Given the description of an element on the screen output the (x, y) to click on. 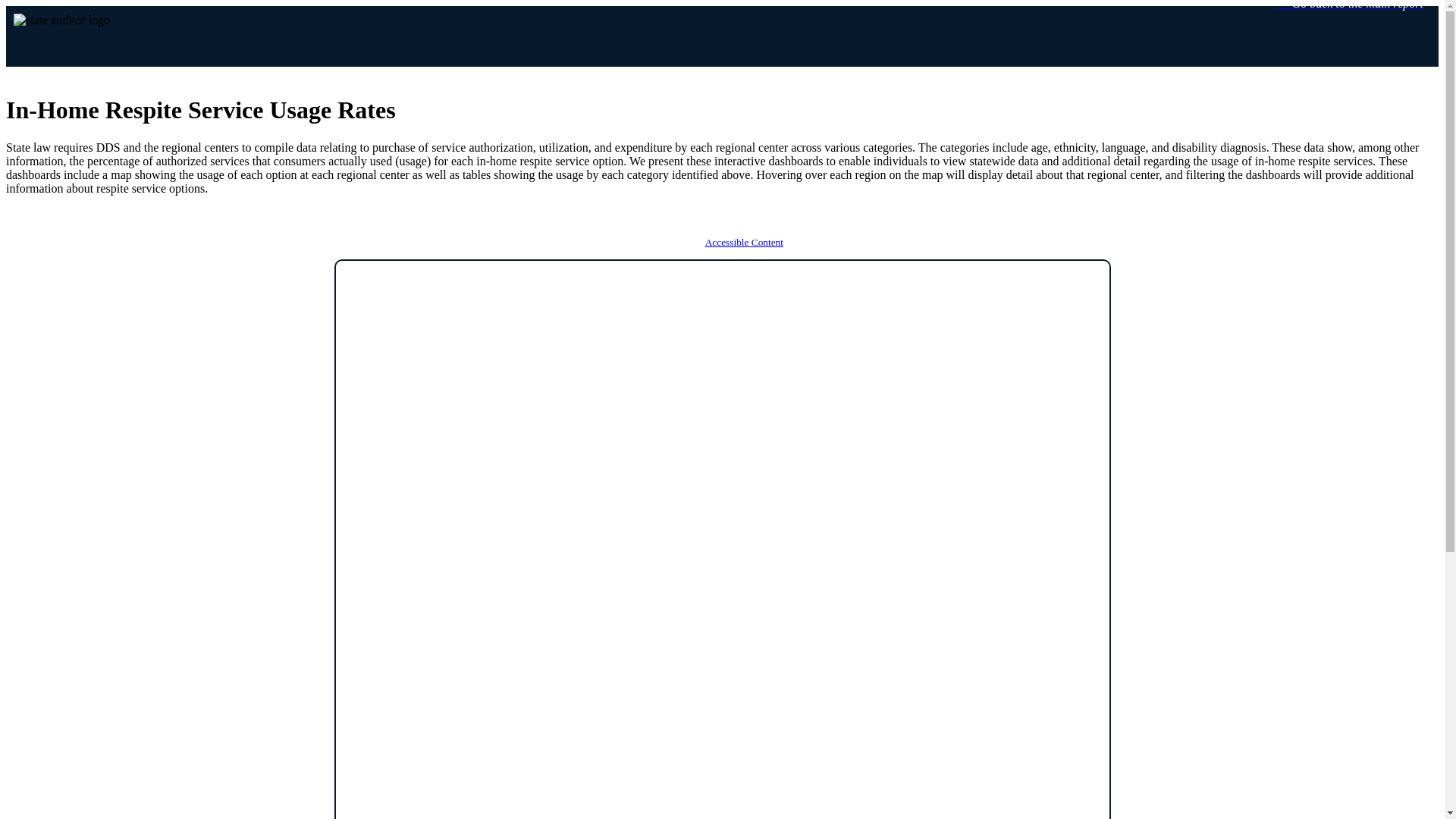
Accessible Content (762, 246)
